Given the description of an element on the screen output the (x, y) to click on. 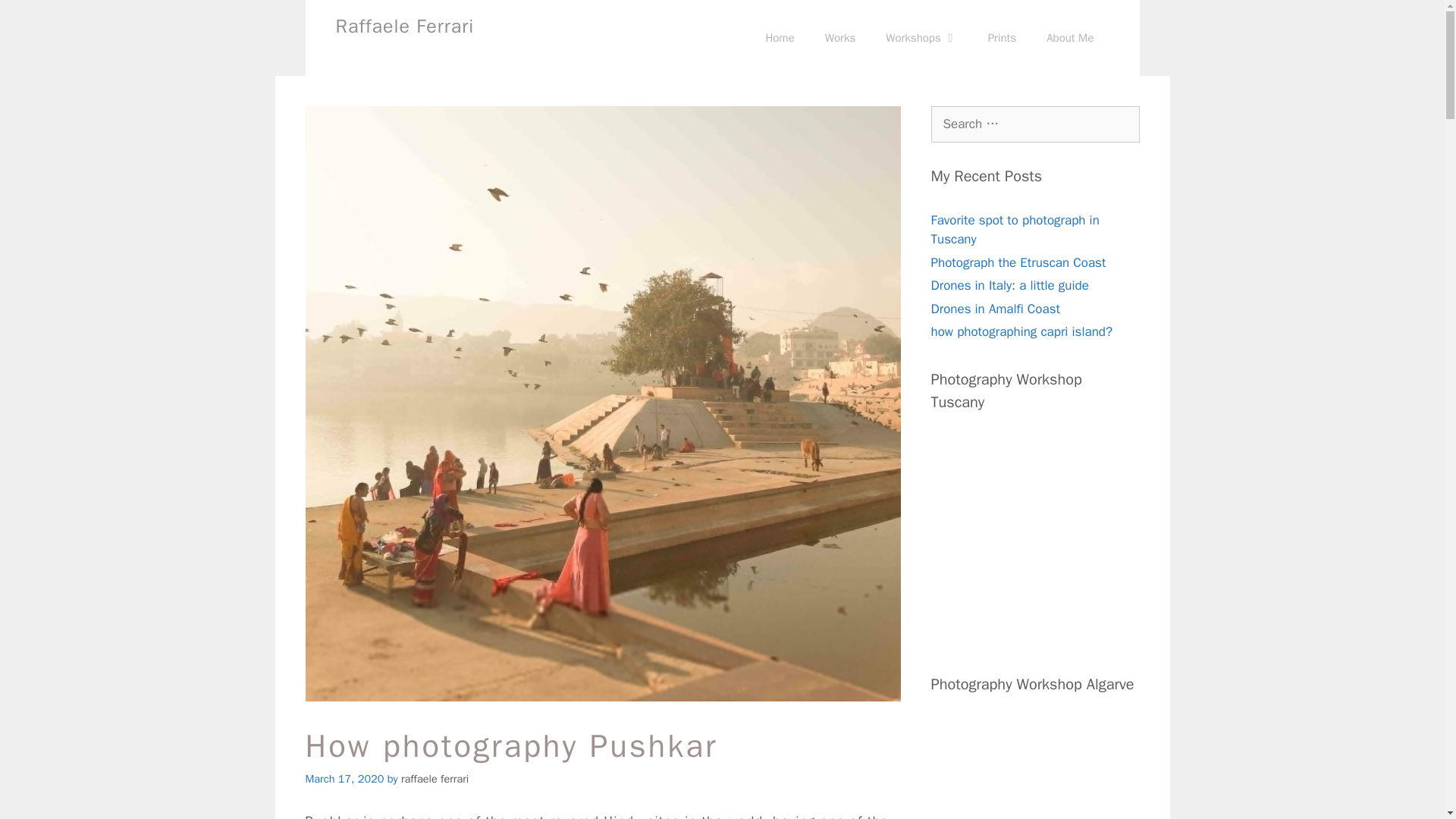
Home (779, 37)
View all posts by raffaele ferrari (434, 778)
Raffaele Ferrari (404, 25)
Works (839, 37)
Prints (1001, 37)
raffaele ferrari (434, 778)
Workshops (921, 37)
About Me (1069, 37)
Search for: (1035, 124)
